Given the description of an element on the screen output the (x, y) to click on. 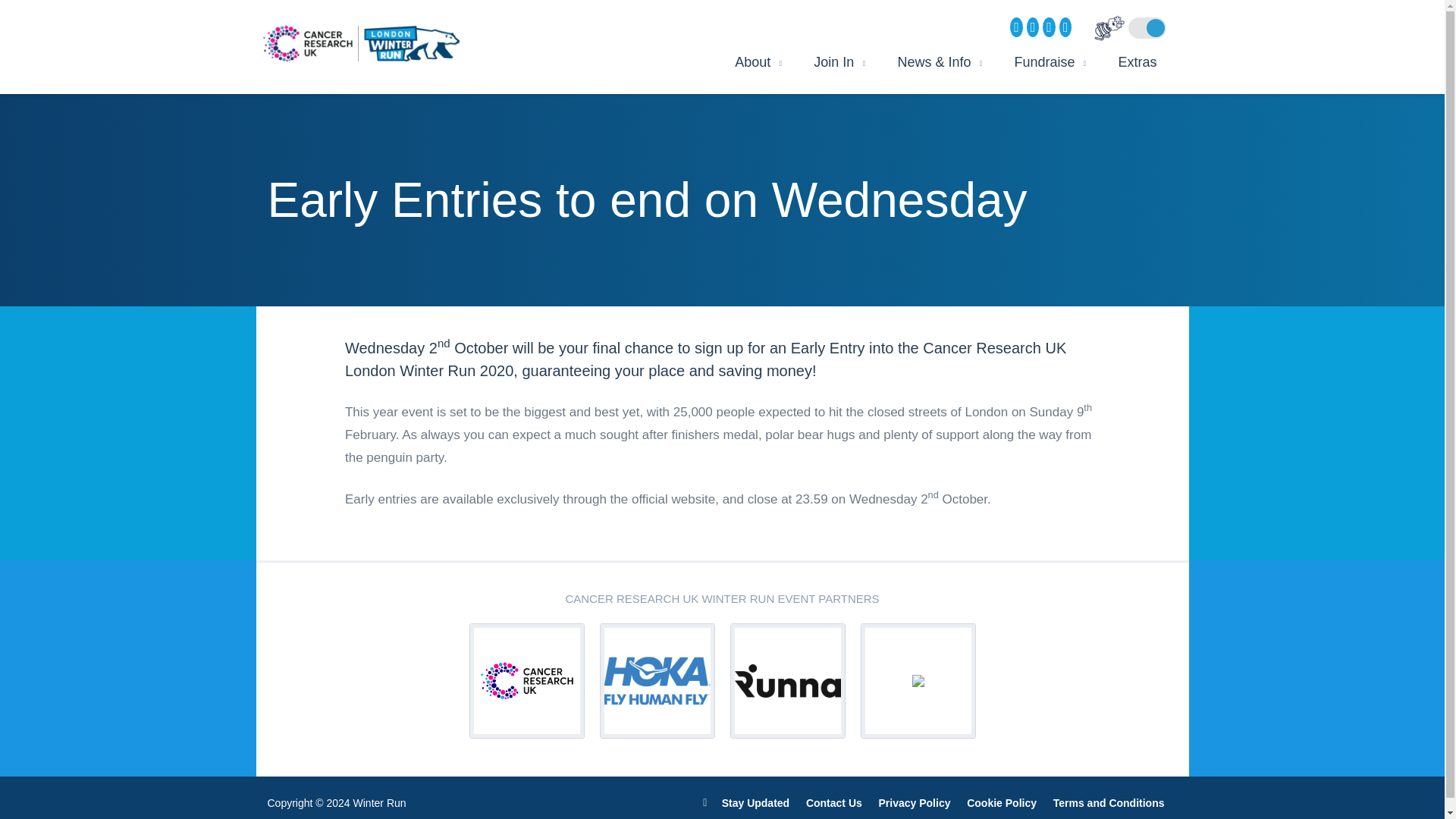
About (752, 61)
Extras (1131, 61)
Contact Us (833, 802)
Stay Updated (746, 802)
Fundraise (1044, 61)
Join In (833, 61)
